Given the description of an element on the screen output the (x, y) to click on. 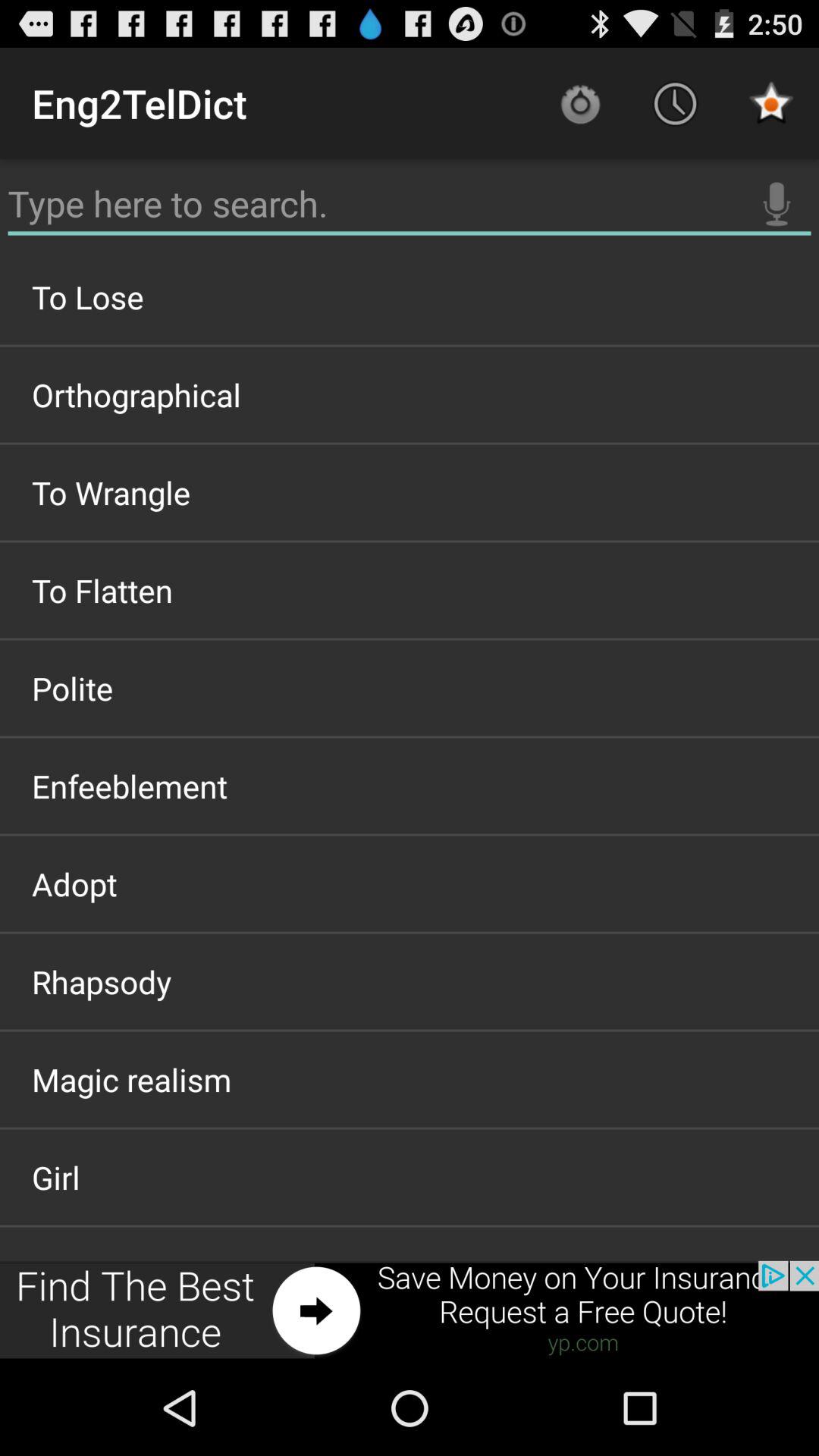
text search (409, 204)
